Given the description of an element on the screen output the (x, y) to click on. 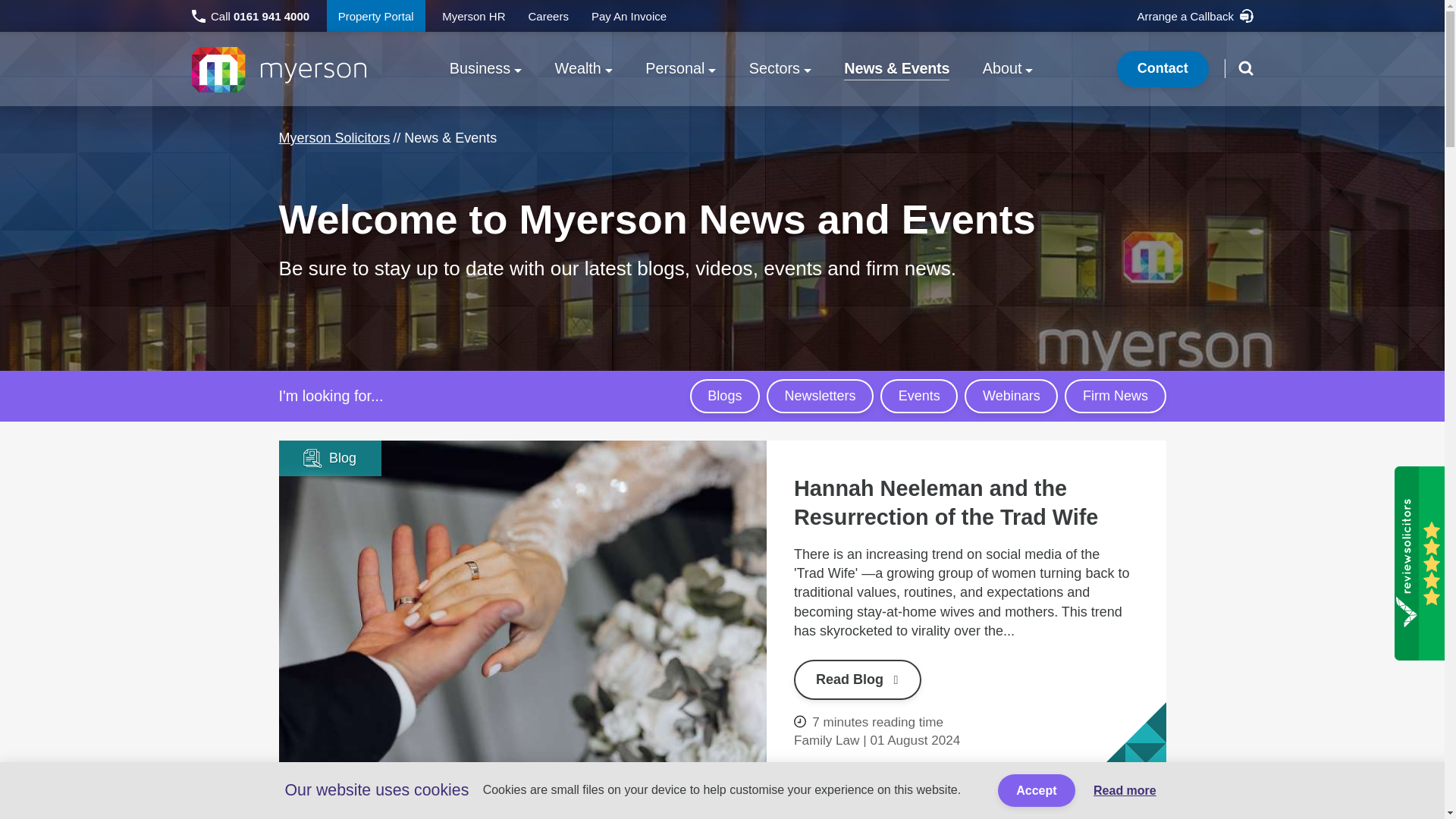
Sectors (779, 68)
Blogs (725, 396)
Myerson Solicitors (334, 137)
Pay An Invoice (628, 15)
Contact (1162, 68)
Read Blog (857, 680)
Open search (1244, 67)
Property Portal (375, 15)
Business (485, 68)
Webinars (1010, 396)
